Given the description of an element on the screen output the (x, y) to click on. 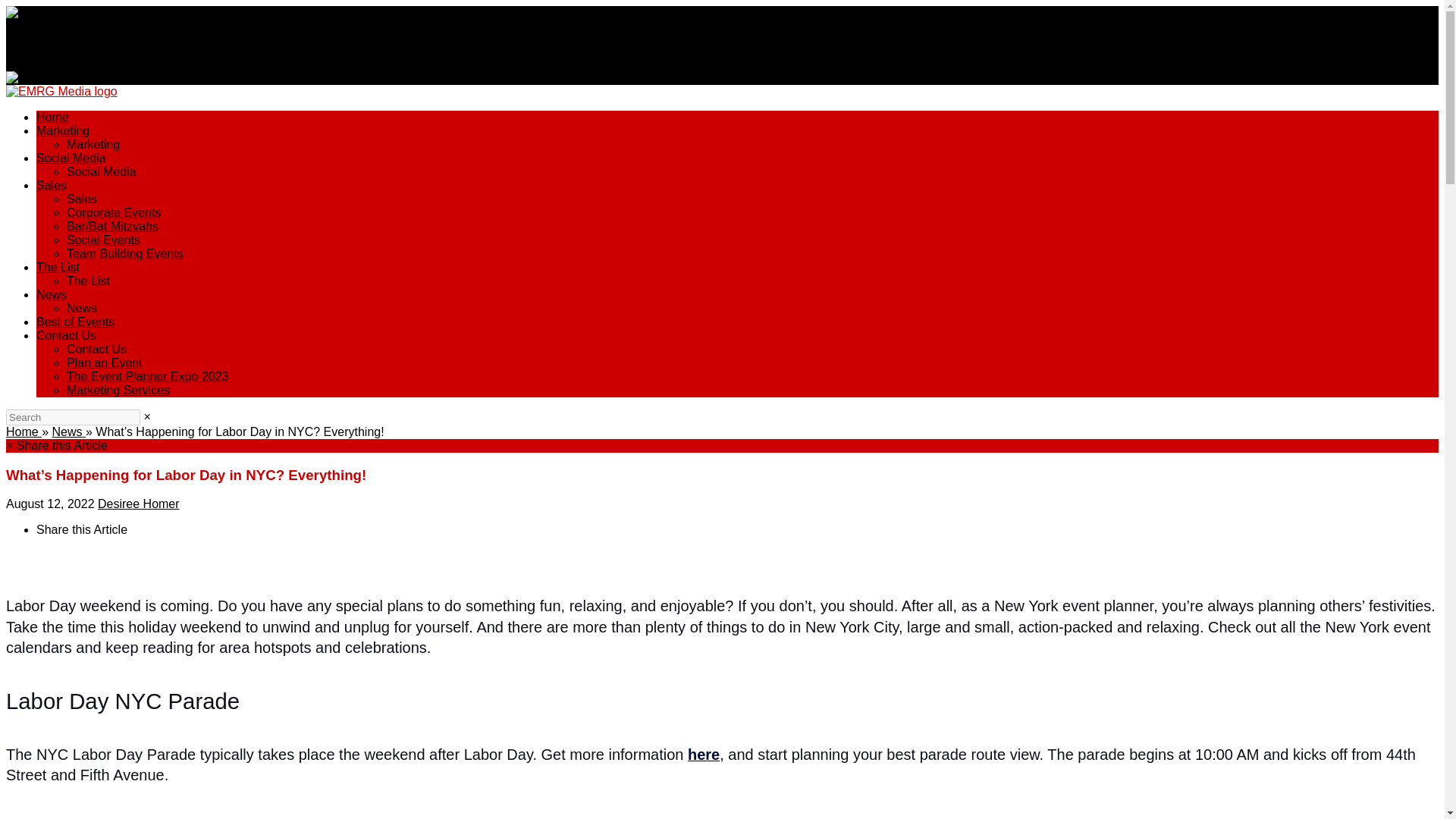
News (67, 431)
Best of Events (75, 321)
Home (23, 431)
Plan an Event (104, 362)
Marketing Services (118, 390)
EMRG Media (61, 91)
here (703, 755)
Corporate Events (113, 212)
Marketing (62, 130)
Social Events (102, 239)
